Given the description of an element on the screen output the (x, y) to click on. 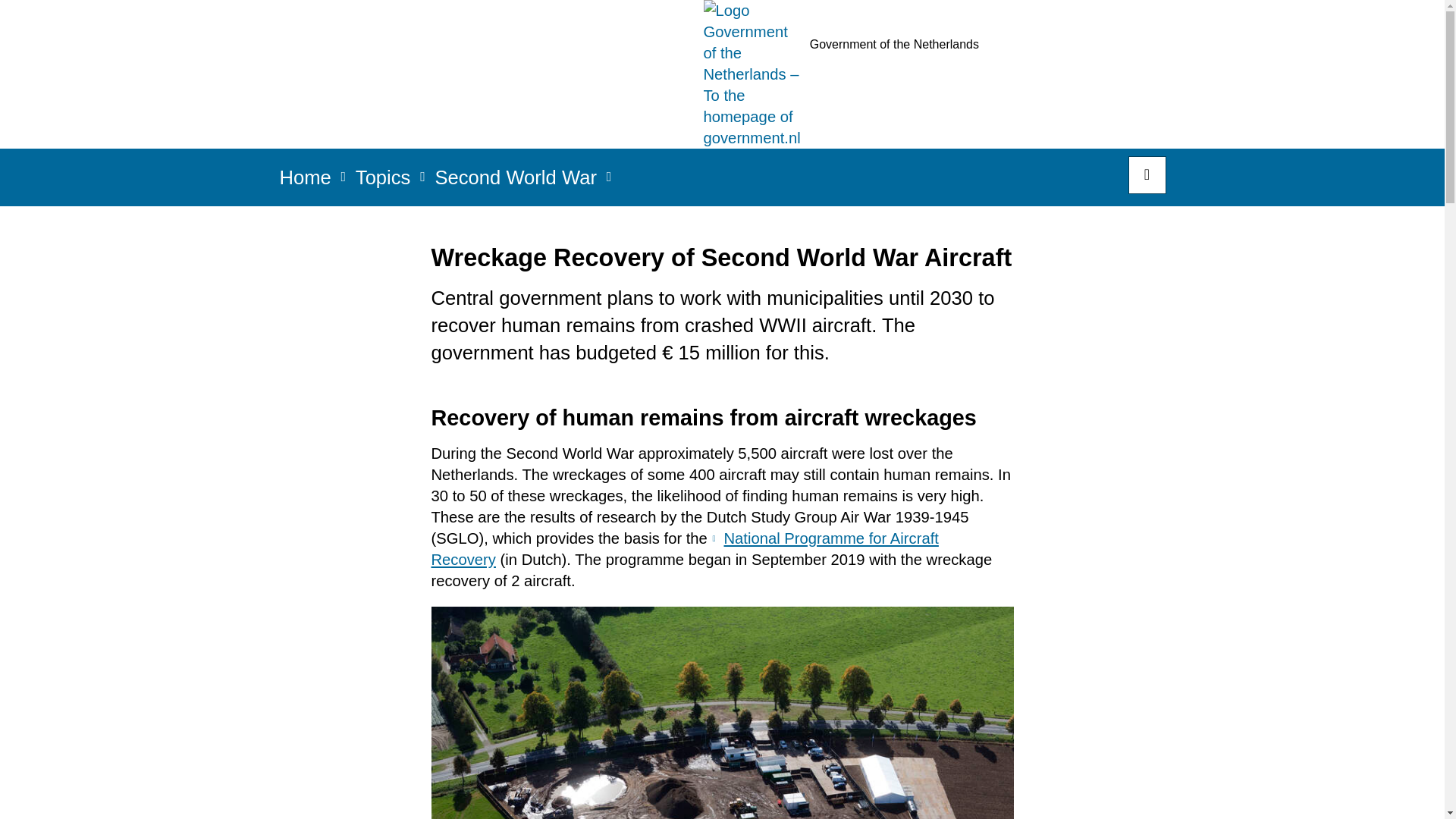
Home (304, 182)
Topics (382, 182)
Second World War (514, 182)
Government of the Netherlands (1056, 74)
Enlarge image (721, 712)
Start search (1146, 175)
National Programme for Aircraft Recovery (683, 548)
Search (1146, 175)
